Given the description of an element on the screen output the (x, y) to click on. 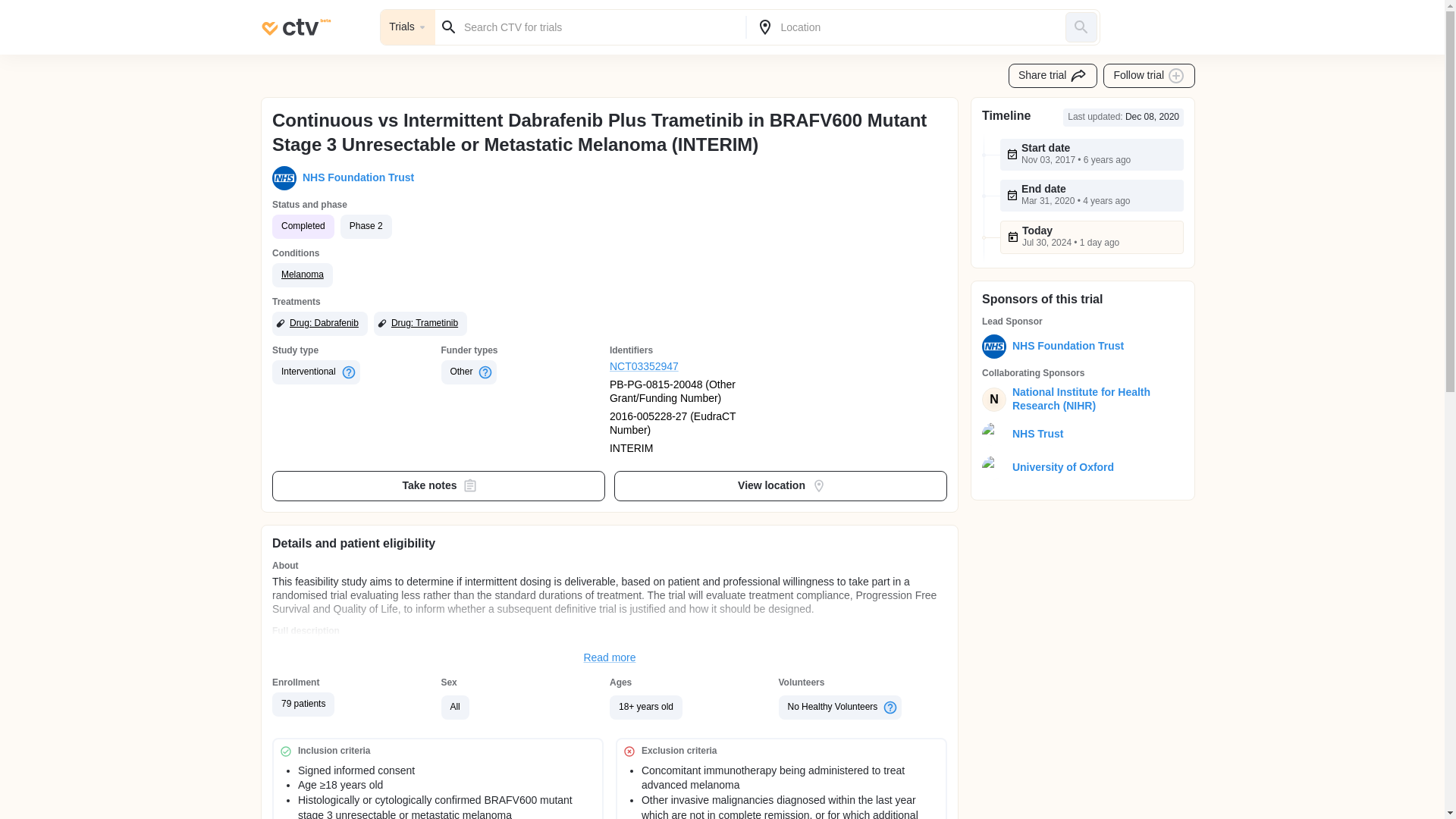
NHS Foundation Trust (1065, 345)
Take notes (438, 485)
View location (780, 485)
Trials (407, 27)
NHS Foundation Trust (355, 178)
University of Oxford (1059, 468)
NHS Trust (1034, 434)
NCT03352947 (694, 366)
Follow trial (1149, 75)
Share trial (1053, 75)
Read more (609, 658)
